Given the description of an element on the screen output the (x, y) to click on. 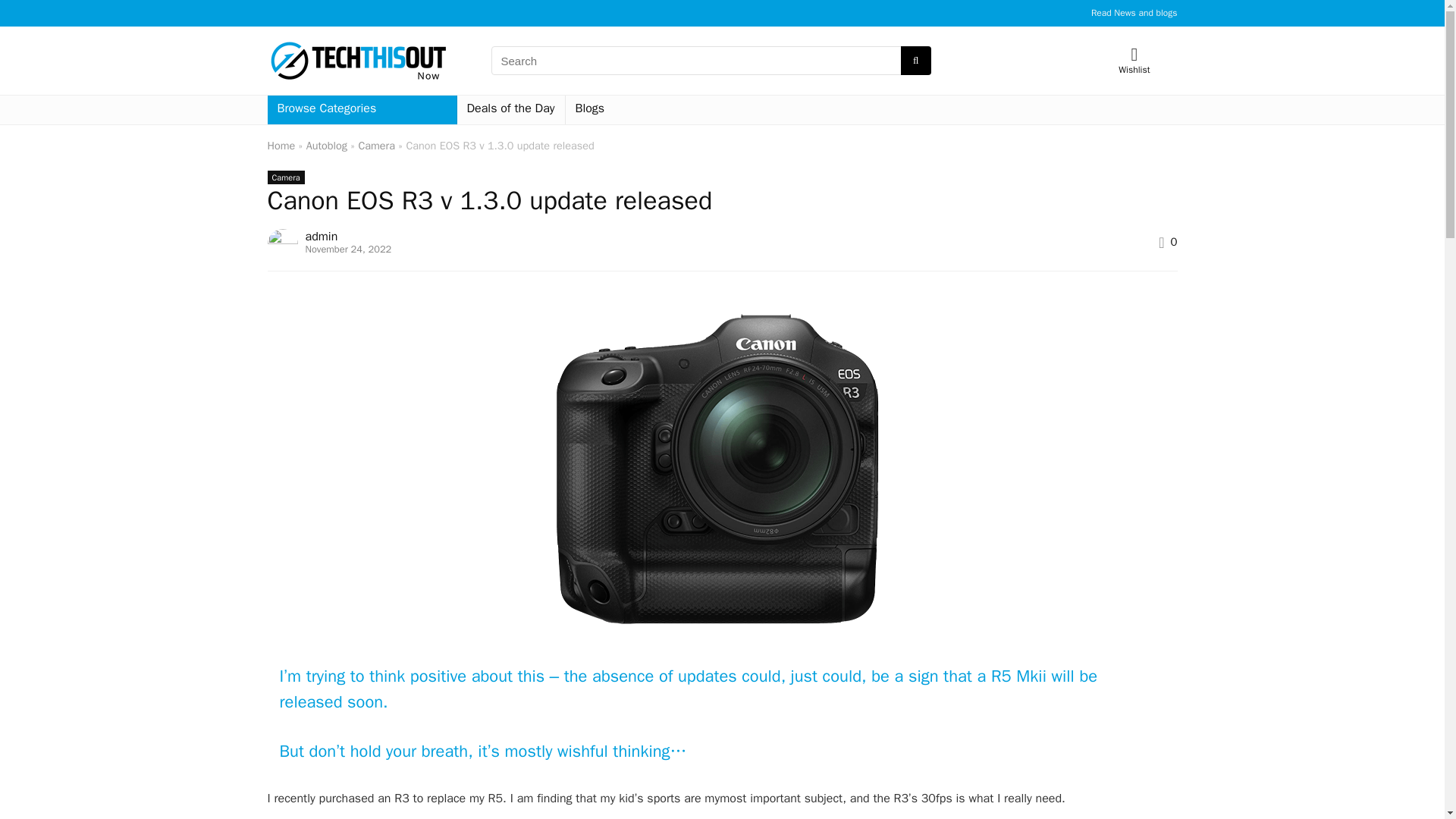
Deals of the Day (510, 109)
Blogs (590, 109)
Autoblog (326, 145)
Home (280, 145)
Read News and blogs (1133, 12)
View all posts in Camera (285, 177)
Camera (285, 177)
admin (320, 236)
Browse Categories (360, 109)
Camera (376, 145)
